Given the description of an element on the screen output the (x, y) to click on. 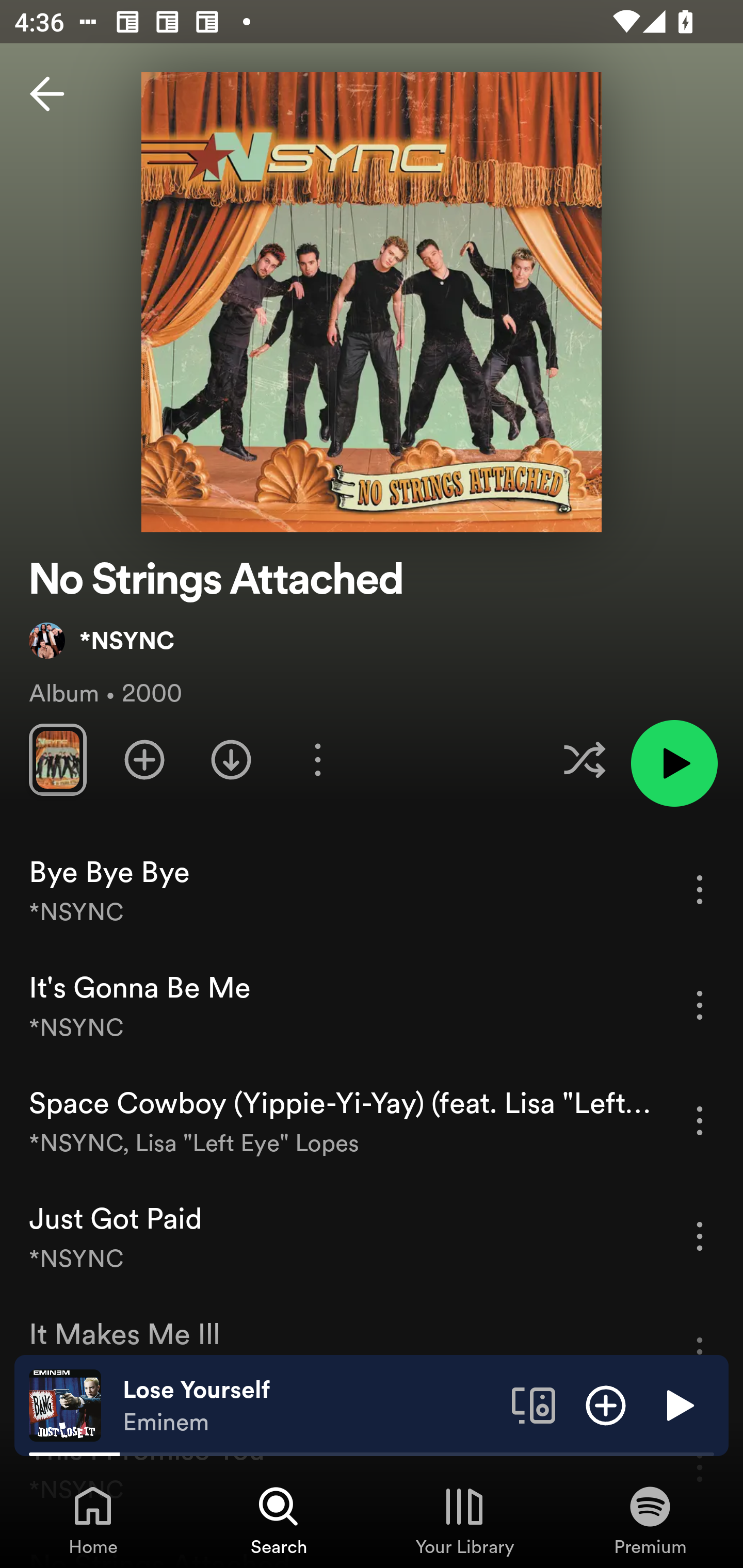
Back (46, 93)
*NSYNC (101, 640)
Swipe through previews of tracks from this album. (57, 759)
Add playlist to Your Library (144, 759)
Download (230, 759)
More options for playlist No Strings Attached (317, 759)
Enable shuffle for this playlist (583, 759)
Play playlist (674, 763)
More options for song Bye Bye Bye (699, 889)
More options for song It's Gonna Be Me (699, 1004)
More options for song Just Got Paid (699, 1236)
Lose Yourself Eminem (309, 1405)
The cover art of the currently playing track (64, 1404)
Connect to a device. Opens the devices menu (533, 1404)
Add item (605, 1404)
Play (677, 1404)
Home, Tab 1 of 4 Home Home (92, 1519)
Search, Tab 2 of 4 Search Search (278, 1519)
Your Library, Tab 3 of 4 Your Library Your Library (464, 1519)
Premium, Tab 4 of 4 Premium Premium (650, 1519)
